Given the description of an element on the screen output the (x, y) to click on. 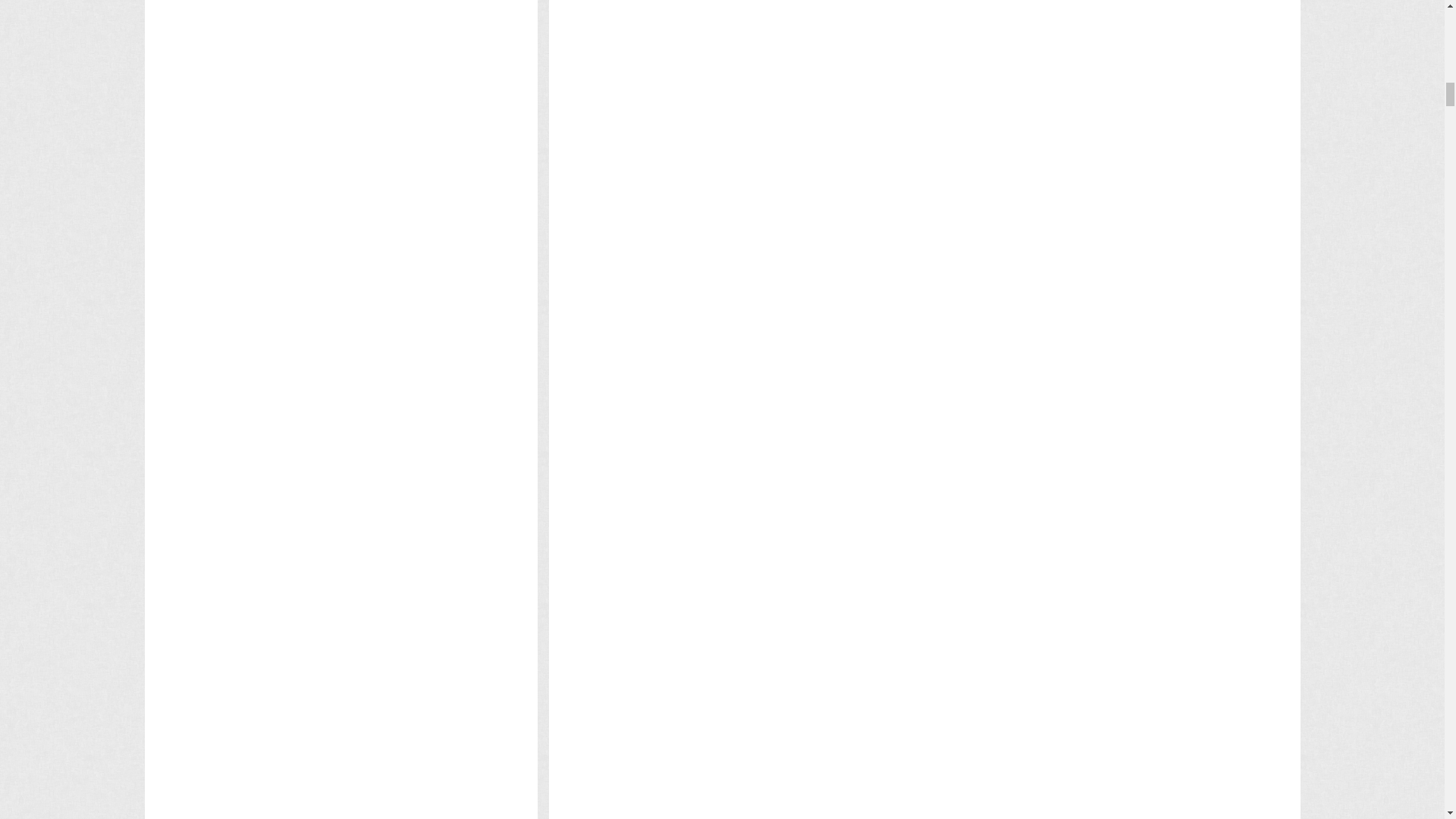
Advertisement (340, 421)
Advertisement (848, 296)
Advertisement (848, 762)
Advertisement (340, 48)
Advertisement (848, 129)
Advertisement (848, 445)
Advertisement (848, 7)
Advertisement (340, 209)
Advertisement (848, 520)
Advertisement (848, 668)
